Given the description of an element on the screen output the (x, y) to click on. 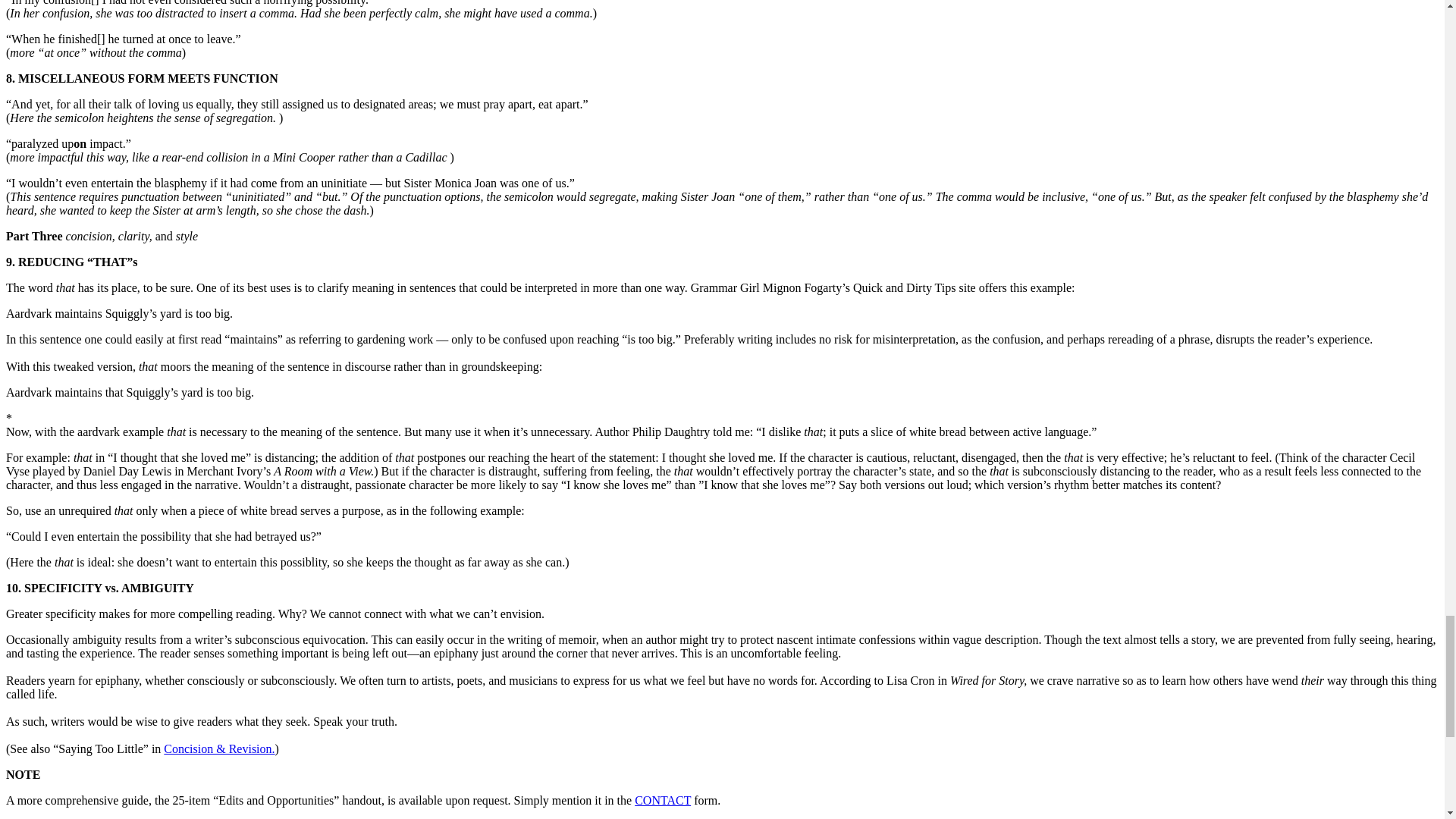
CONTACT (662, 799)
